Given the description of an element on the screen output the (x, y) to click on. 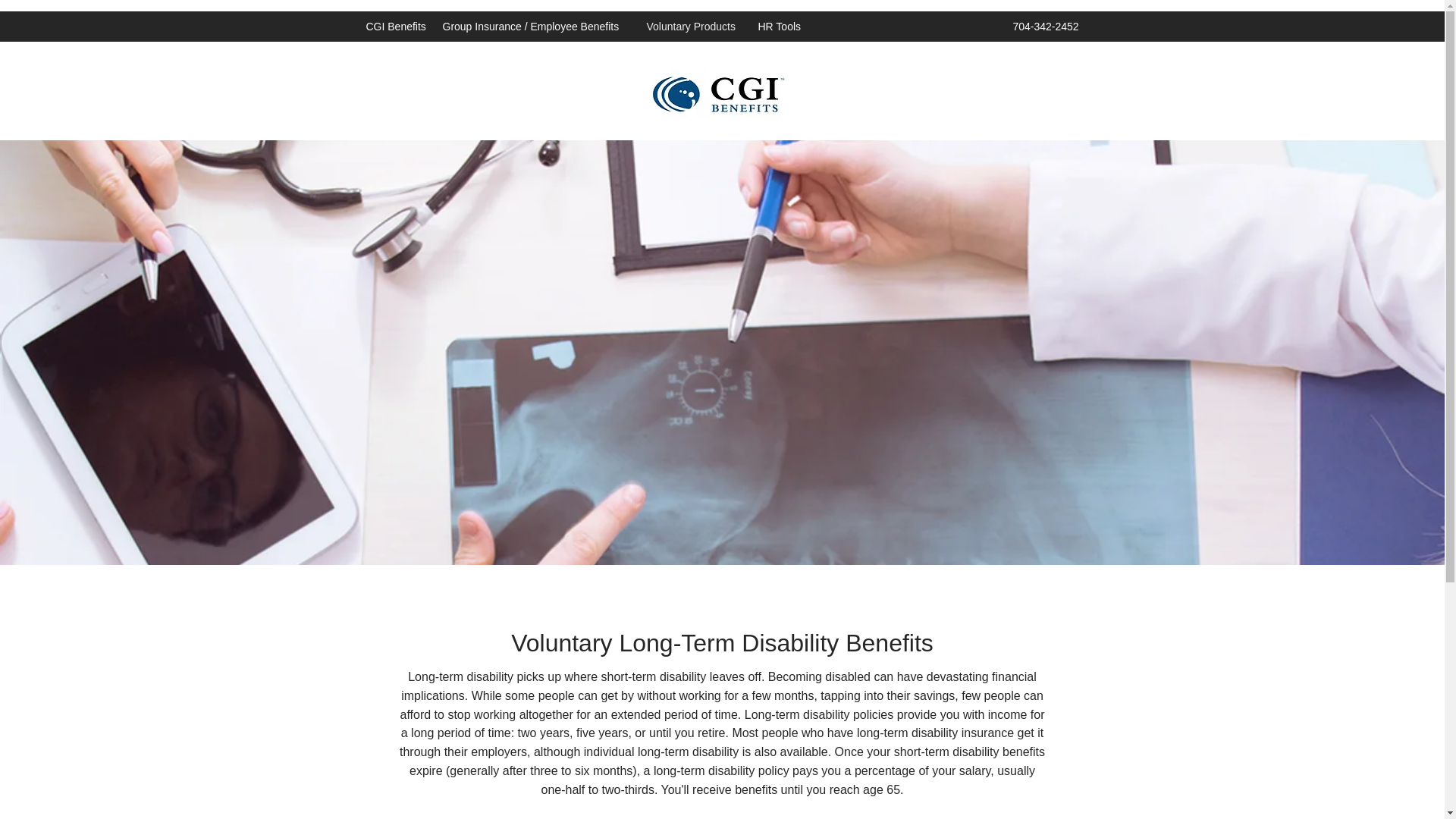
HR Tools (780, 26)
Voluntary Products (694, 26)
CGI Benefits (395, 26)
